Given the description of an element on the screen output the (x, y) to click on. 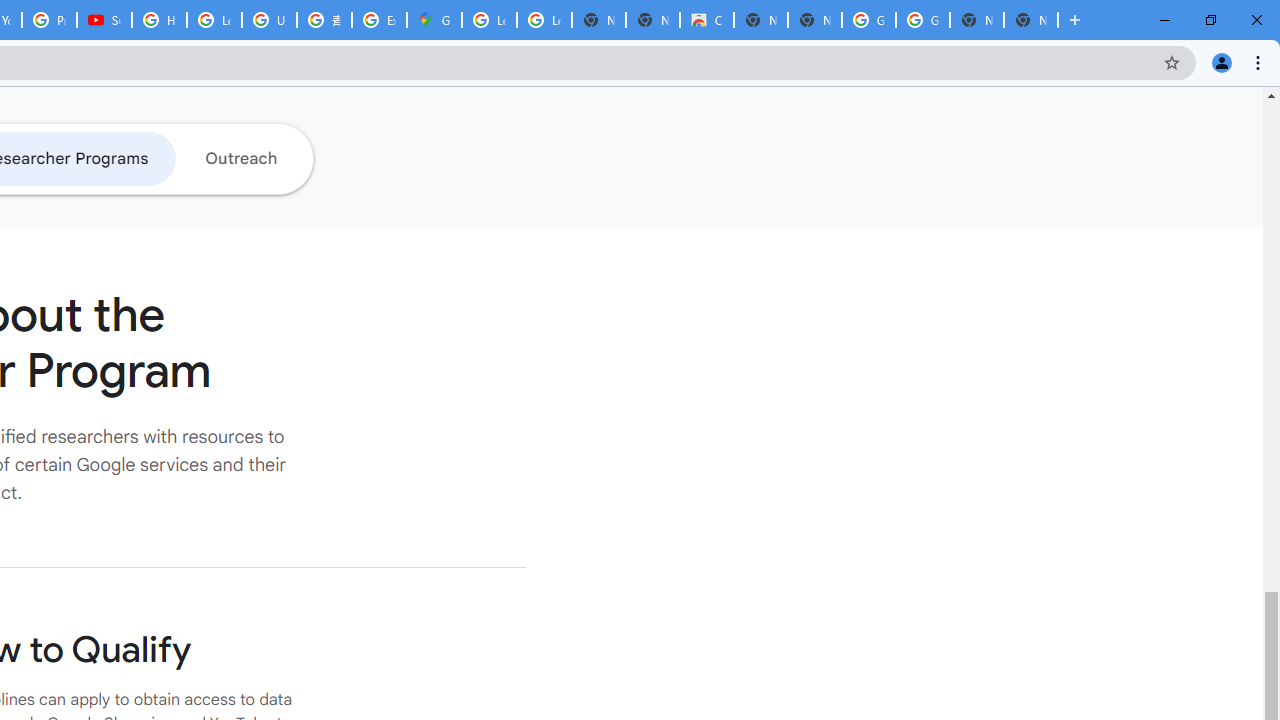
Chrome Web Store (706, 20)
New Tab (1030, 20)
Google Maps (434, 20)
Outreach (240, 158)
Google Images (922, 20)
Explore new street-level details - Google Maps Help (379, 20)
Subscriptions - YouTube (103, 20)
